Given the description of an element on the screen output the (x, y) to click on. 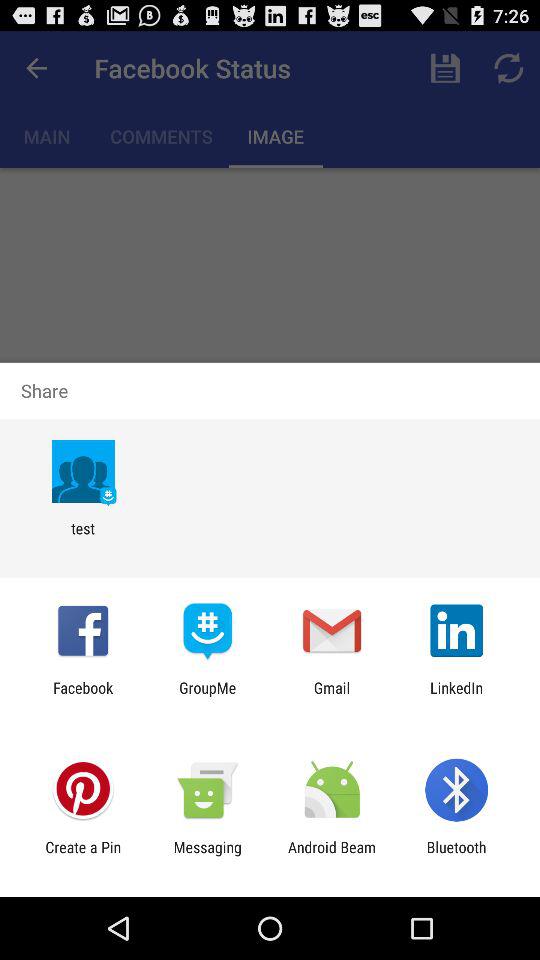
turn on create a pin icon (83, 856)
